Given the description of an element on the screen output the (x, y) to click on. 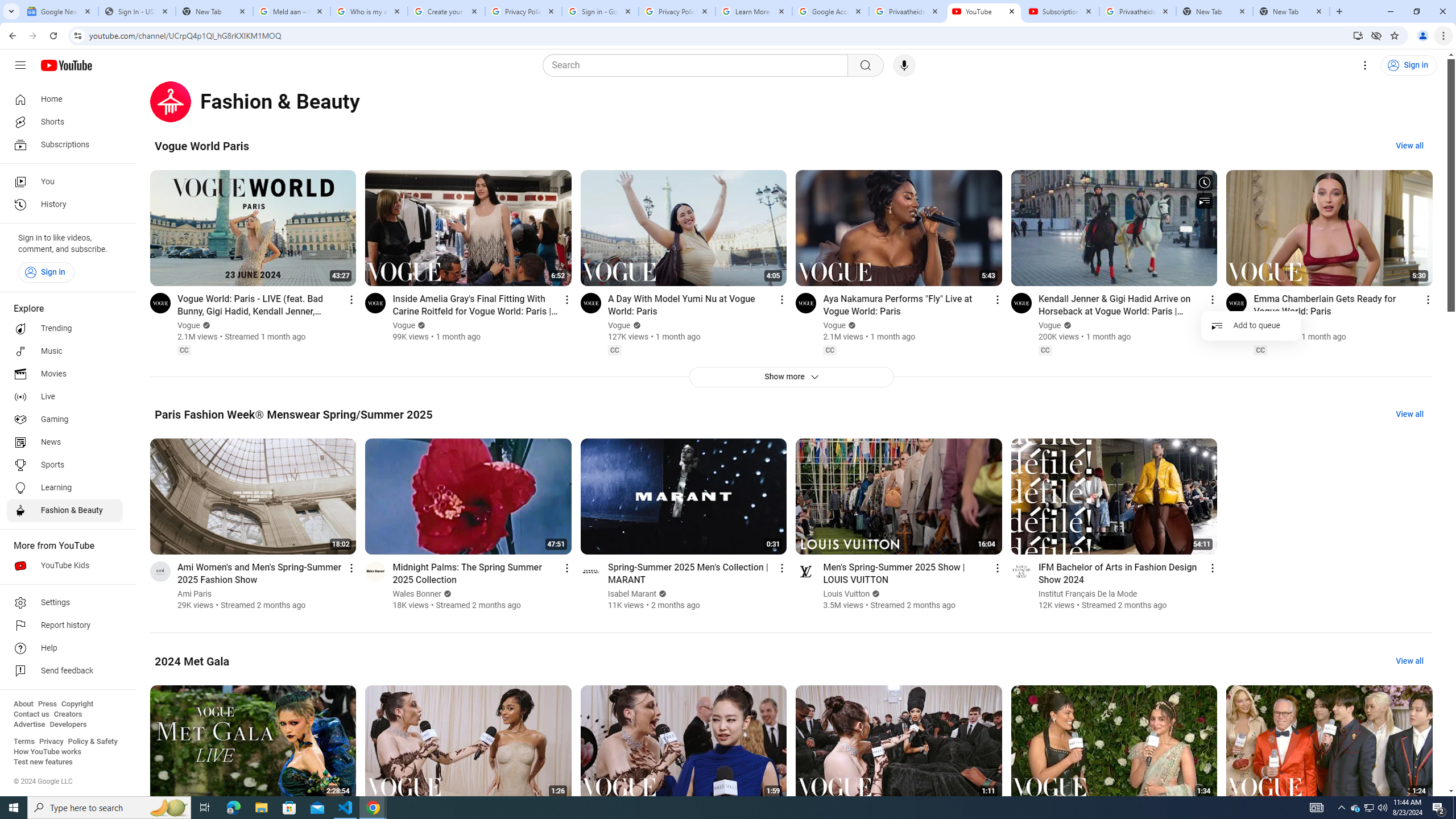
Add to queue (1250, 325)
YouTube Home (66, 65)
View all (1409, 660)
Shorts (64, 121)
Sports (64, 464)
Subscriptions - YouTube (1061, 11)
Isabel Marant (632, 594)
Verified (874, 593)
Developers (68, 724)
Gaming (64, 419)
About (23, 703)
